Given the description of an element on the screen output the (x, y) to click on. 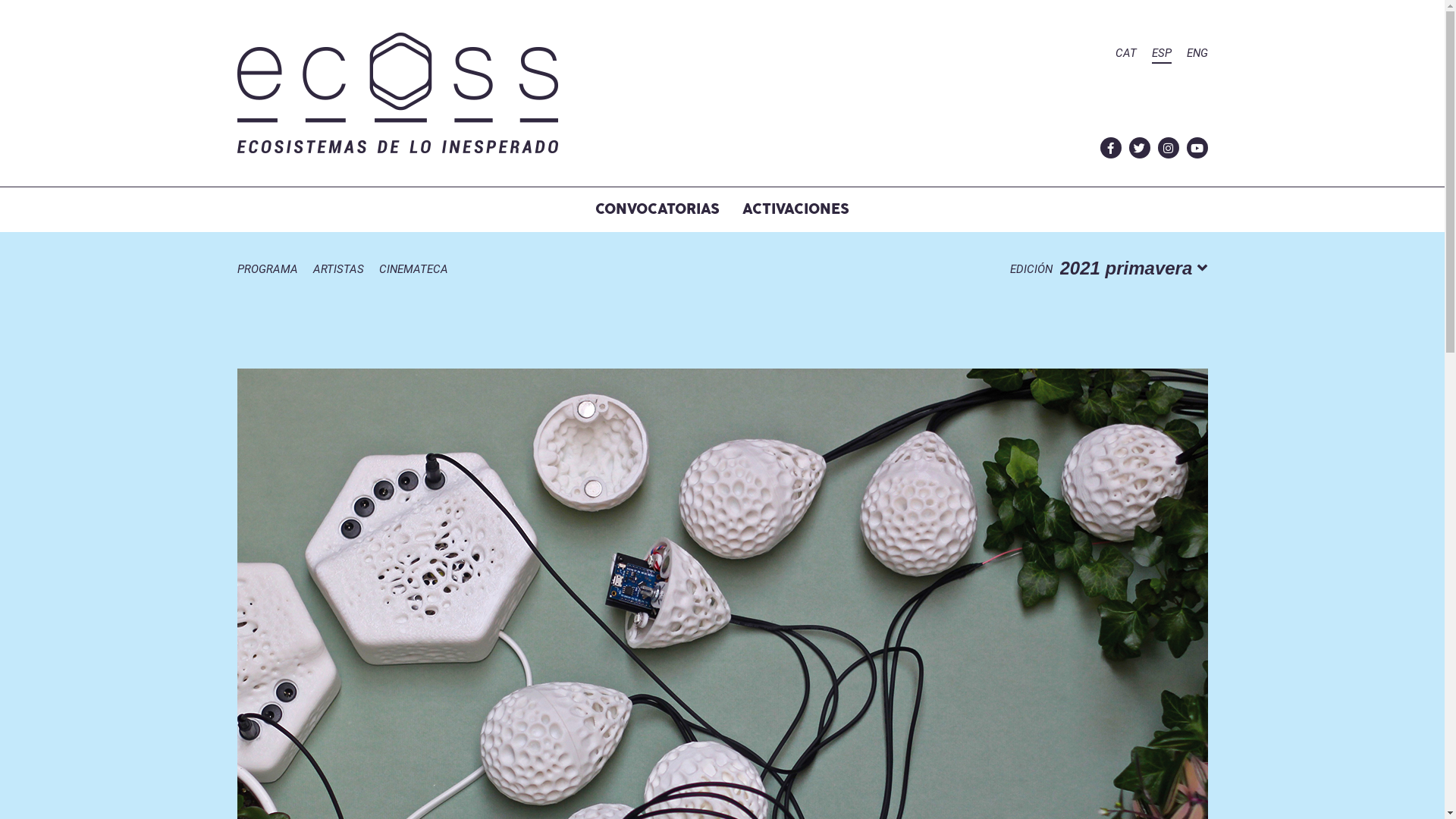
PROGRAMA Element type: text (266, 270)
ENG Element type: text (1196, 54)
ARTISTAS Element type: text (337, 270)
CONVOCATORIAS Element type: text (657, 209)
CINEMATECA Element type: text (413, 270)
ESP Element type: text (1160, 54)
ACTIVACIONES Element type: text (795, 209)
CAT Element type: text (1124, 54)
